Given the description of an element on the screen output the (x, y) to click on. 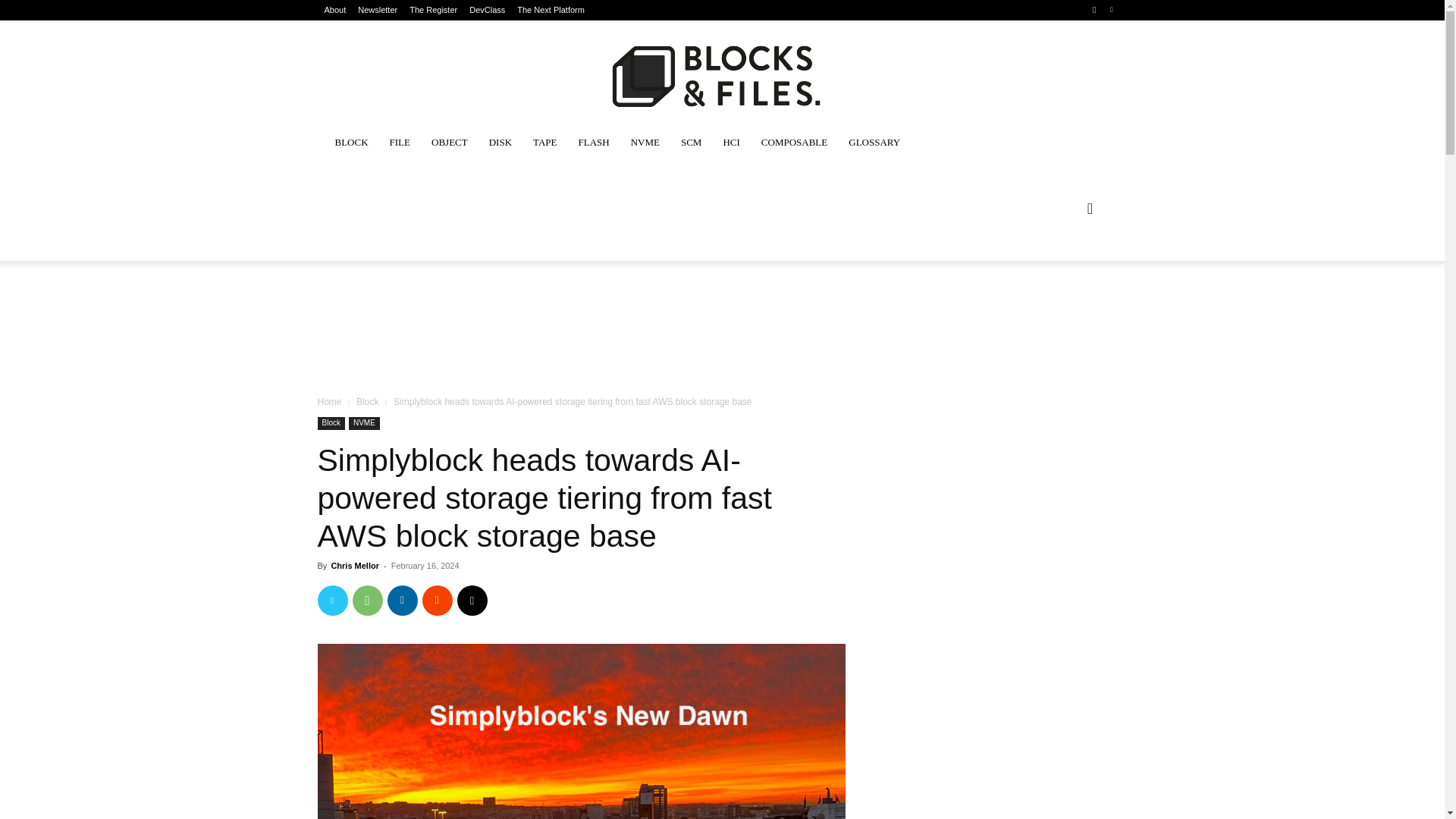
Linkedin (401, 600)
Simplyblock teaser (580, 730)
HCI (730, 142)
FLASH (593, 142)
The Next Platform (550, 9)
Block (330, 422)
Block (367, 400)
COMPOSABLE (794, 142)
GLOSSARY (874, 142)
DevClass (486, 9)
FILE (399, 142)
NVME (644, 142)
View all posts in Block (367, 400)
About (335, 9)
